Given the description of an element on the screen output the (x, y) to click on. 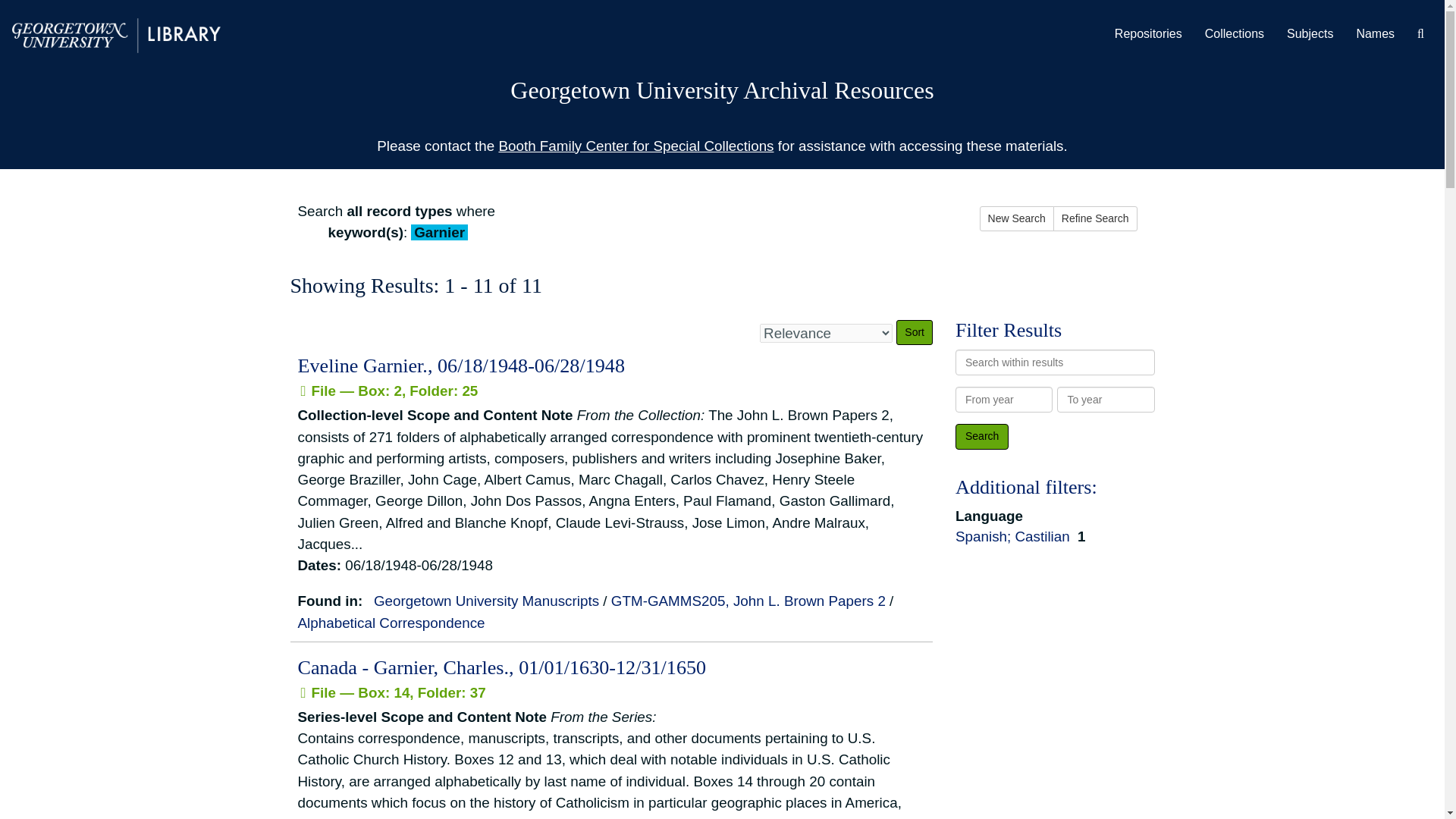
Georgetown University Library Website (116, 34)
Filter By 'Spanish; Castilian' (1014, 536)
New Search (1016, 218)
Georgetown University Manuscripts (486, 600)
Alphabetical Correspondence (390, 622)
translation missing: en.dates (316, 565)
Sort (914, 332)
Refine Search (1094, 218)
Collections (1234, 34)
Names (1374, 34)
